Given the description of an element on the screen output the (x, y) to click on. 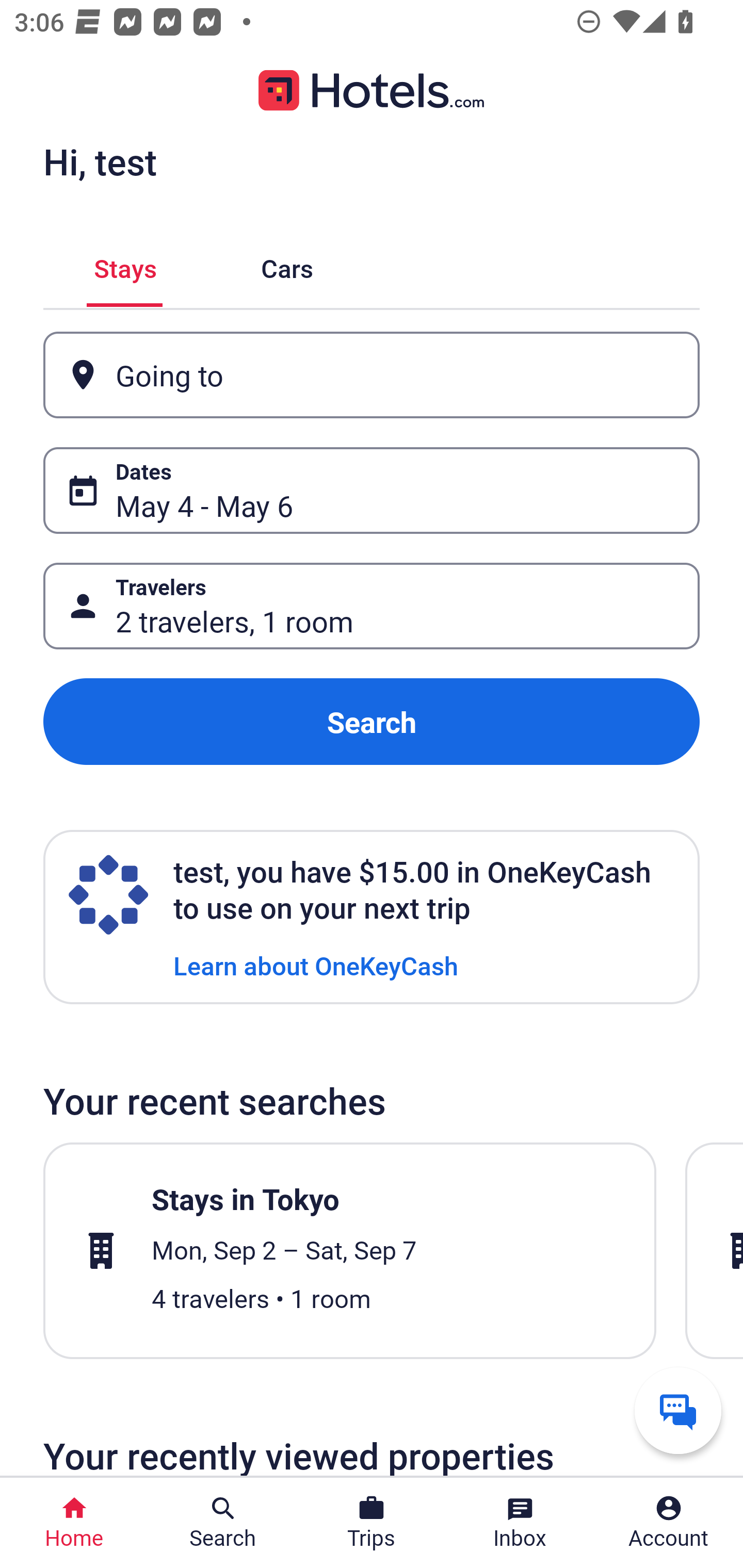
Hi, test (99, 161)
Cars (286, 265)
Going to Button (371, 375)
Dates Button May 4 - May 6 (371, 489)
Travelers Button 2 travelers, 1 room (371, 605)
Search (371, 721)
Learn about OneKeyCash Learn about OneKeyCash Link (315, 964)
Get help from a virtual agent (677, 1410)
Search Search Button (222, 1522)
Trips Trips Button (371, 1522)
Inbox Inbox Button (519, 1522)
Account Profile. Button (668, 1522)
